Given the description of an element on the screen output the (x, y) to click on. 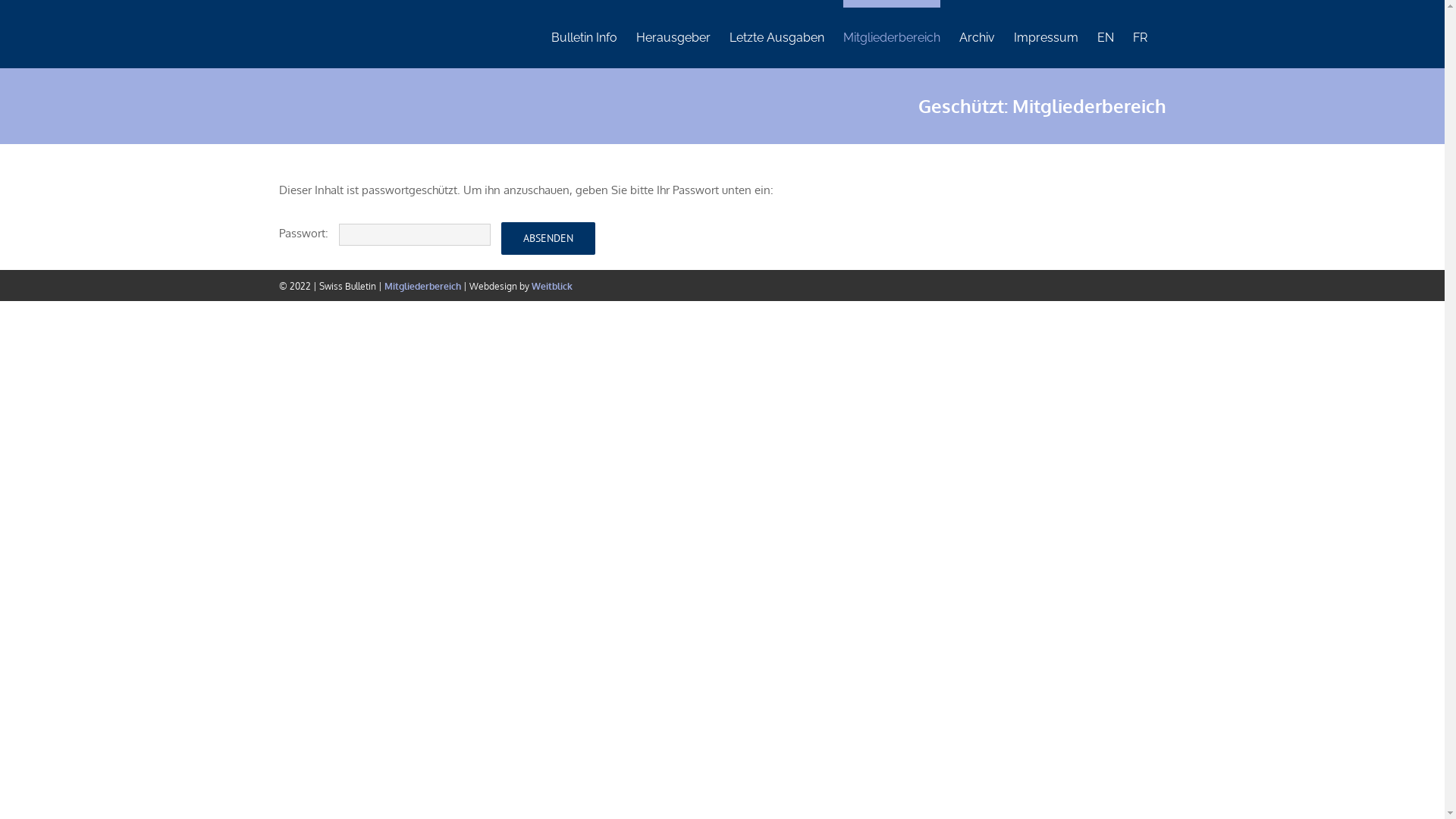
FR Element type: text (1139, 34)
Weitblick Element type: text (550, 285)
Mitgliederbereich Element type: text (891, 34)
Letzte Ausgaben Element type: text (776, 34)
Impressum Element type: text (1045, 34)
Bulletin Info Element type: text (583, 34)
EN Element type: text (1104, 34)
Mitgliederbereich Element type: text (421, 285)
Absenden Element type: text (547, 237)
Archiv Element type: text (976, 34)
Herausgeber Element type: text (672, 34)
